Given the description of an element on the screen output the (x, y) to click on. 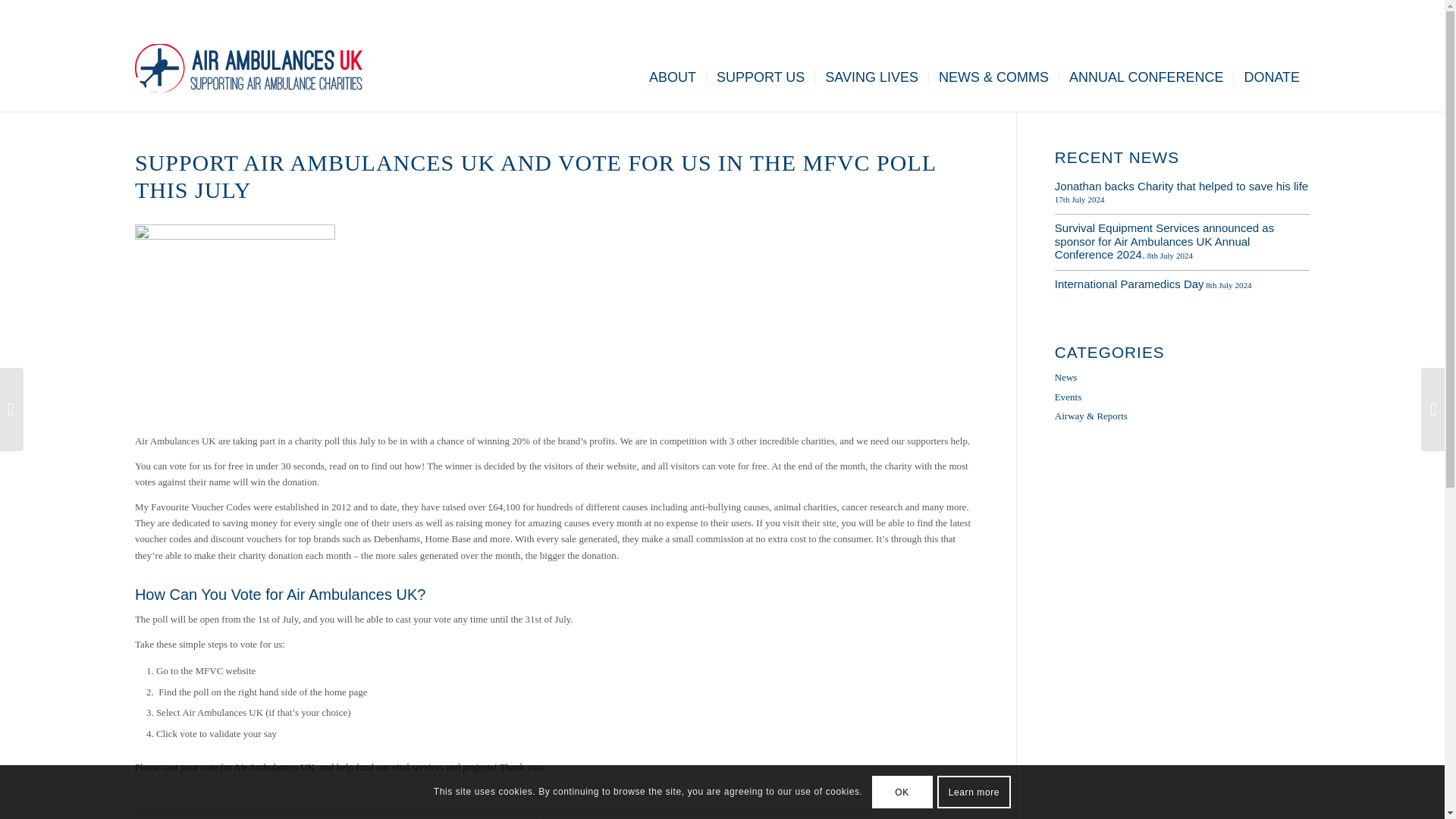
ANNUAL CONFERENCE (1145, 77)
MFVC website (225, 670)
My Favourite Voucher Codes (192, 505)
SUPPORT US (759, 77)
ABOUT (672, 77)
SAVING LIVES (870, 77)
DONATE (1270, 77)
